Given the description of an element on the screen output the (x, y) to click on. 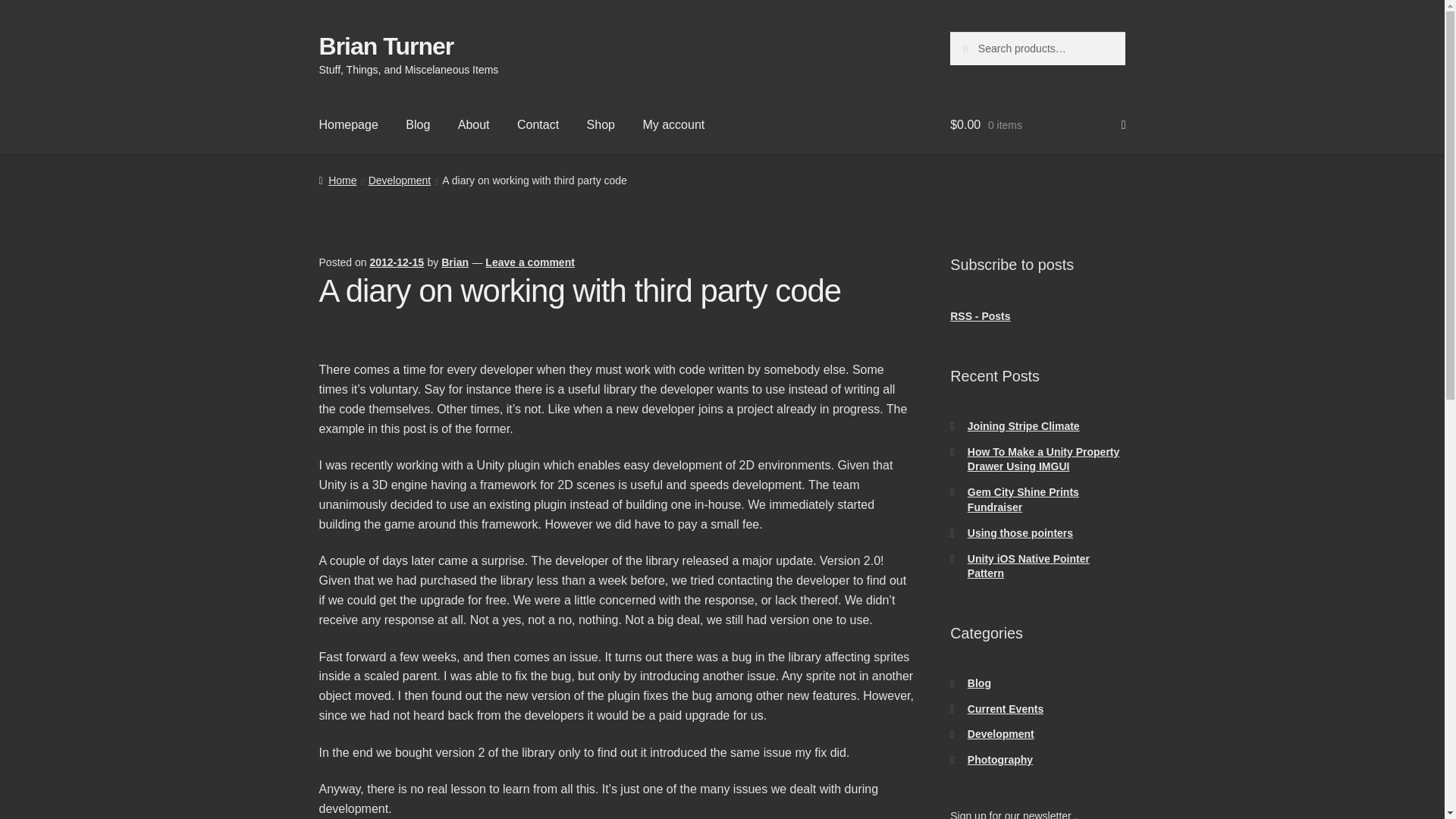
Brian Turner (386, 45)
How To Make a Unity Property Drawer Using IMGUI (1043, 459)
Gem City Shine Prints Fundraiser (1023, 499)
View your shopping cart (1037, 124)
RSS - Posts (980, 316)
Leave a comment (529, 262)
Current Events (1005, 708)
About (473, 124)
Unity iOS Native Pointer Pattern (1028, 565)
